Given the description of an element on the screen output the (x, y) to click on. 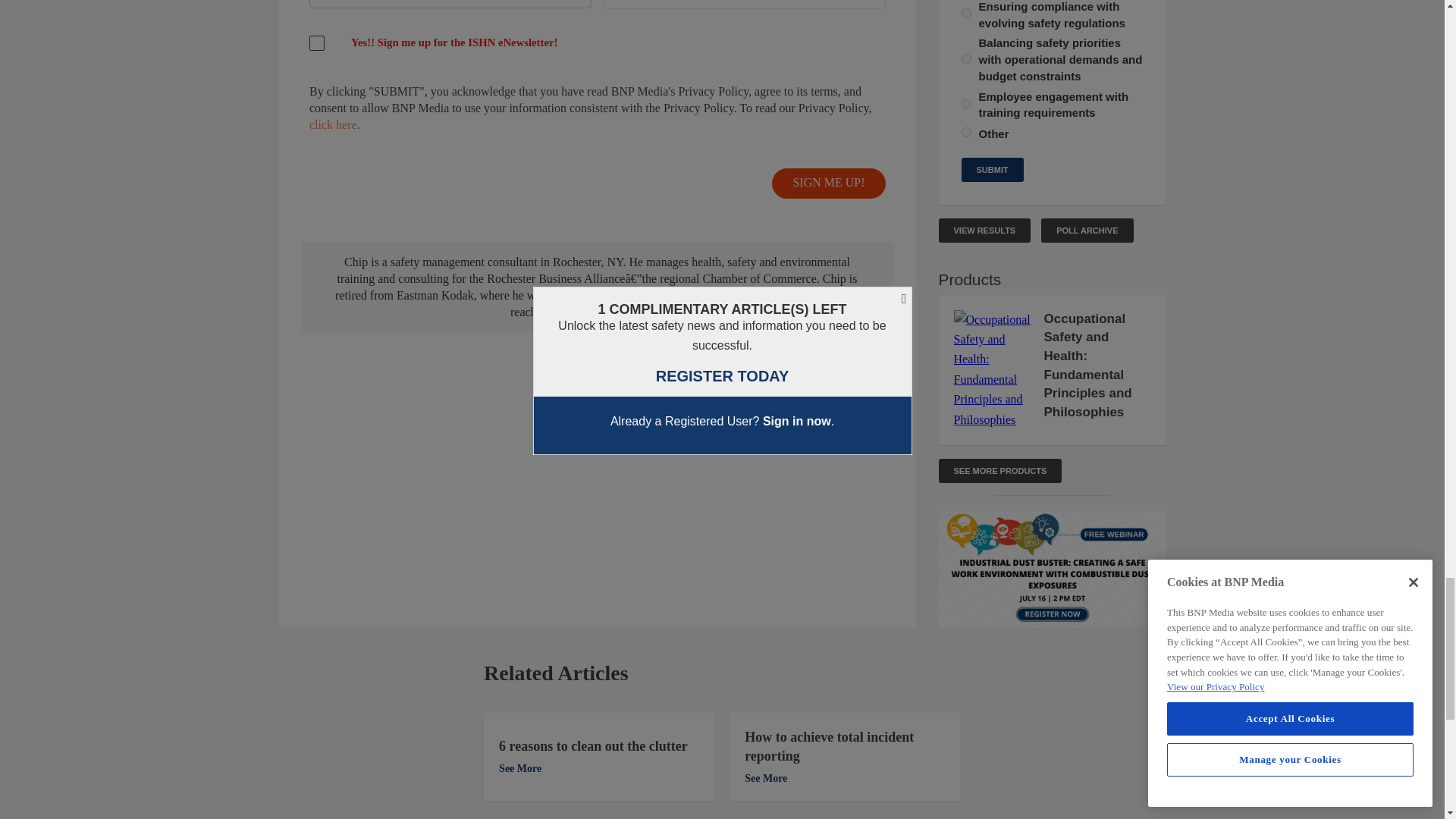
Interaction questions (597, 102)
138 (965, 13)
Submit (991, 169)
140 (965, 103)
141 (965, 132)
139 (965, 58)
